Given the description of an element on the screen output the (x, y) to click on. 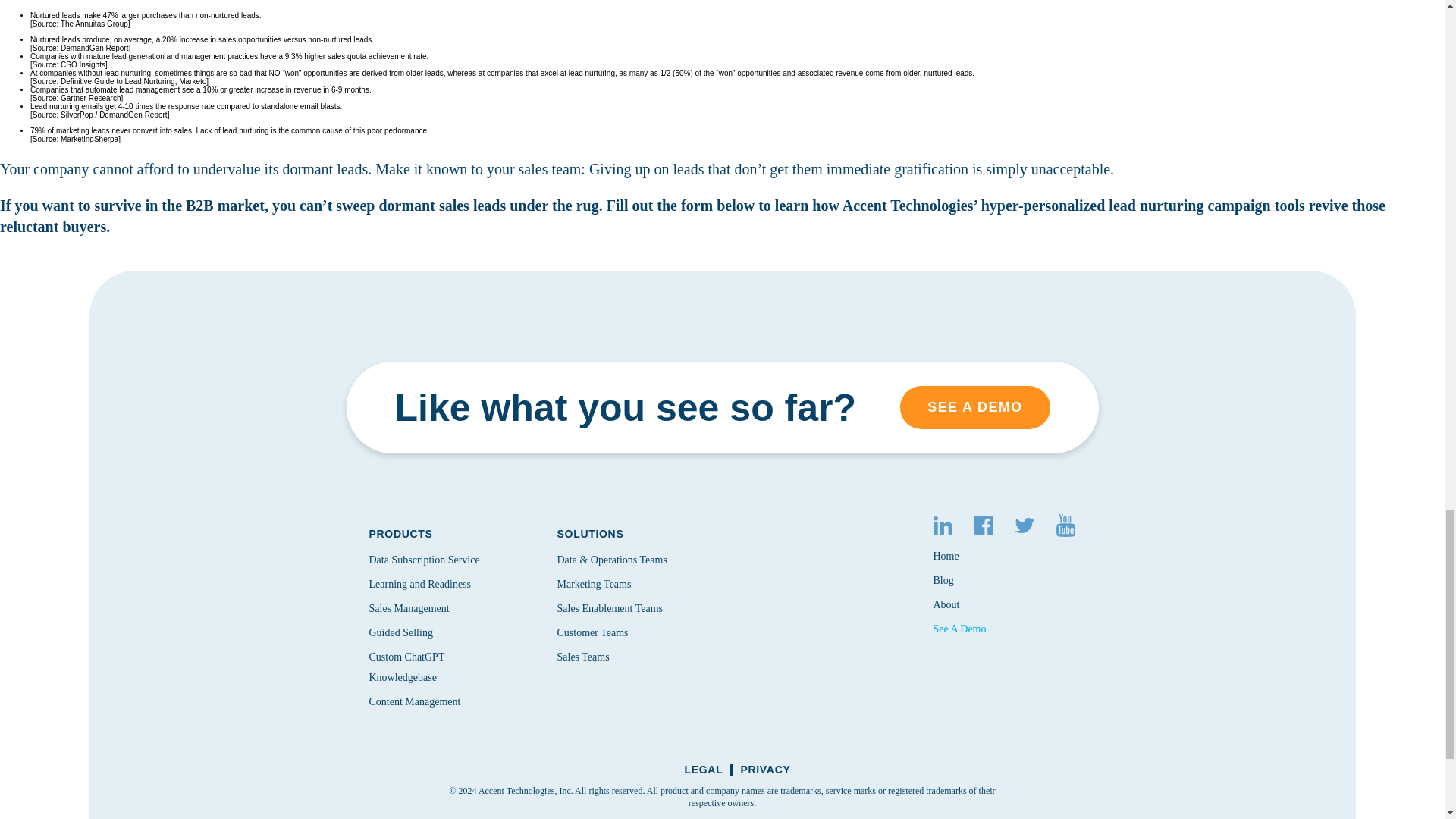
SEE A DEMO (974, 407)
